Given the description of an element on the screen output the (x, y) to click on. 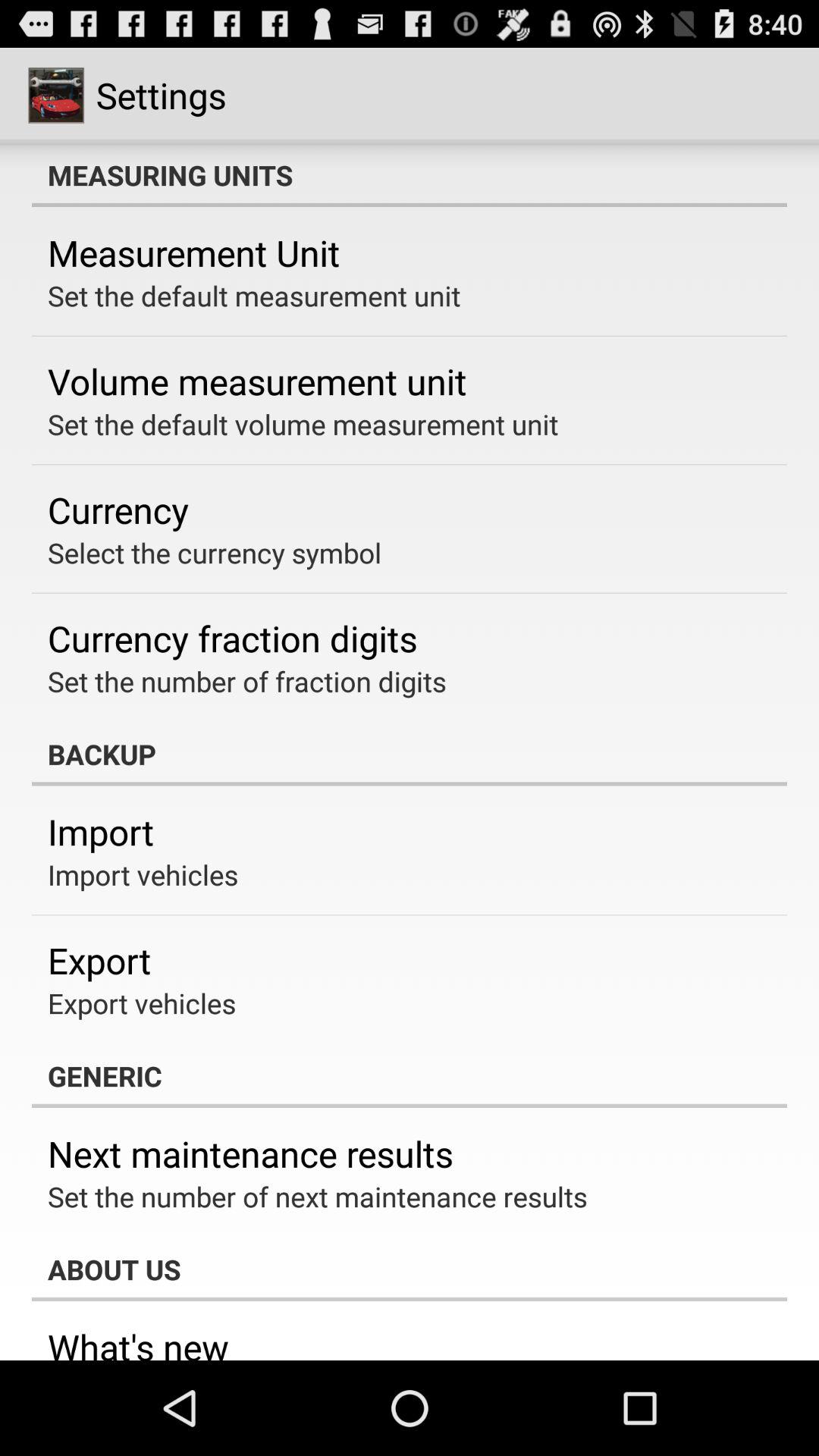
jump to what's new item (137, 1341)
